Given the description of an element on the screen output the (x, y) to click on. 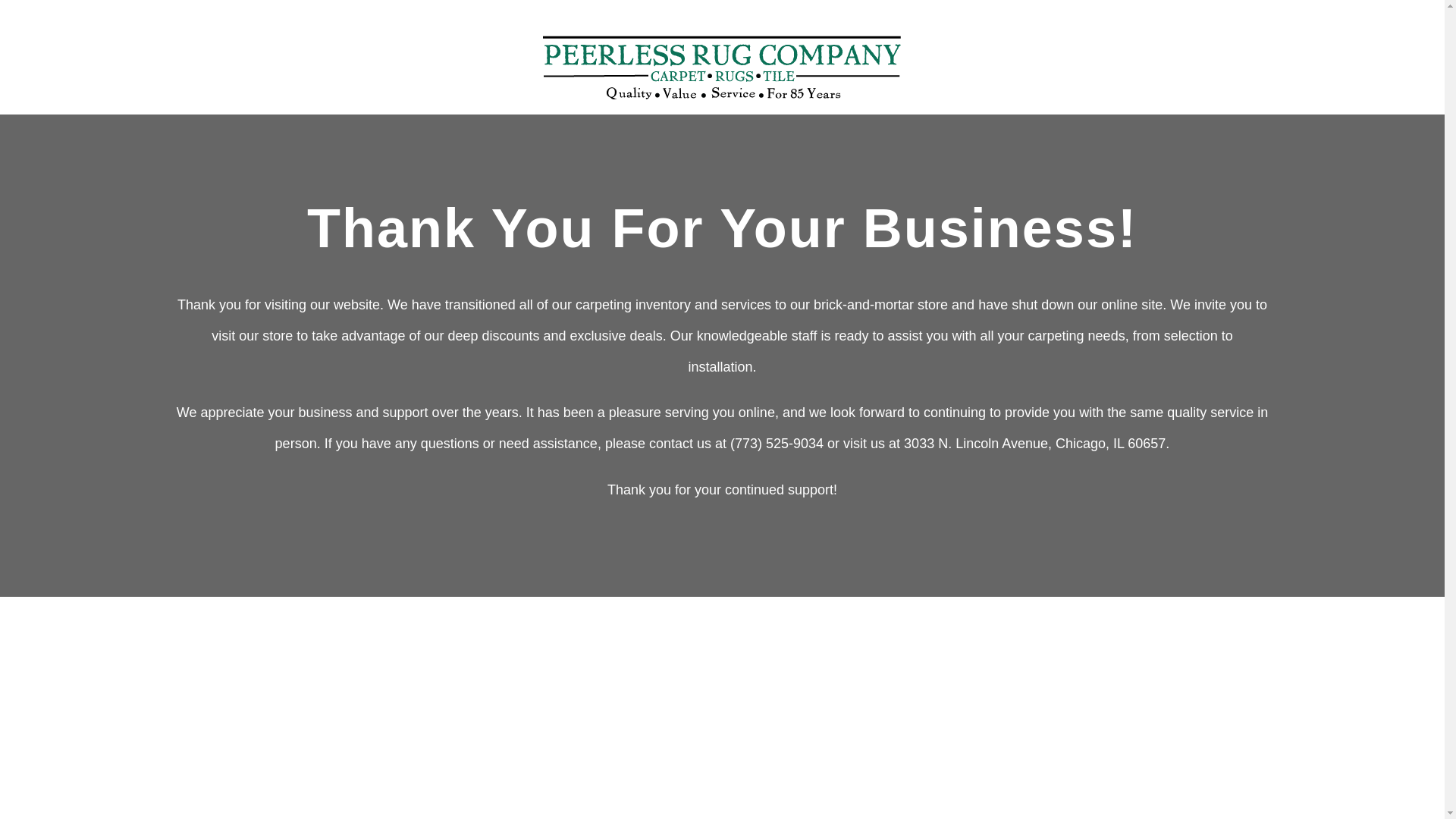
PRC-Green-Logo-With-Tagline-Resized (721, 64)
